Given the description of an element on the screen output the (x, y) to click on. 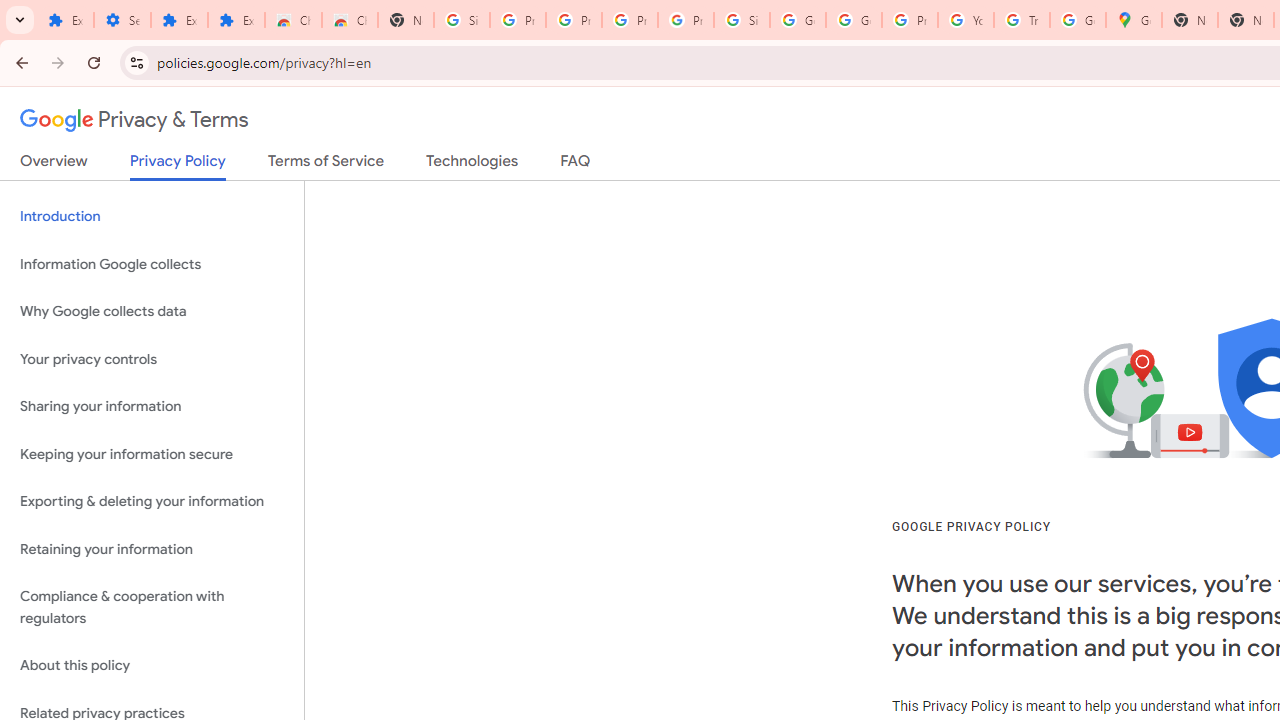
Retaining your information (152, 548)
Sharing your information (152, 407)
Chrome Web Store (293, 20)
Sign in - Google Accounts (742, 20)
Keeping your information secure (152, 453)
Extensions (235, 20)
